Given the description of an element on the screen output the (x, y) to click on. 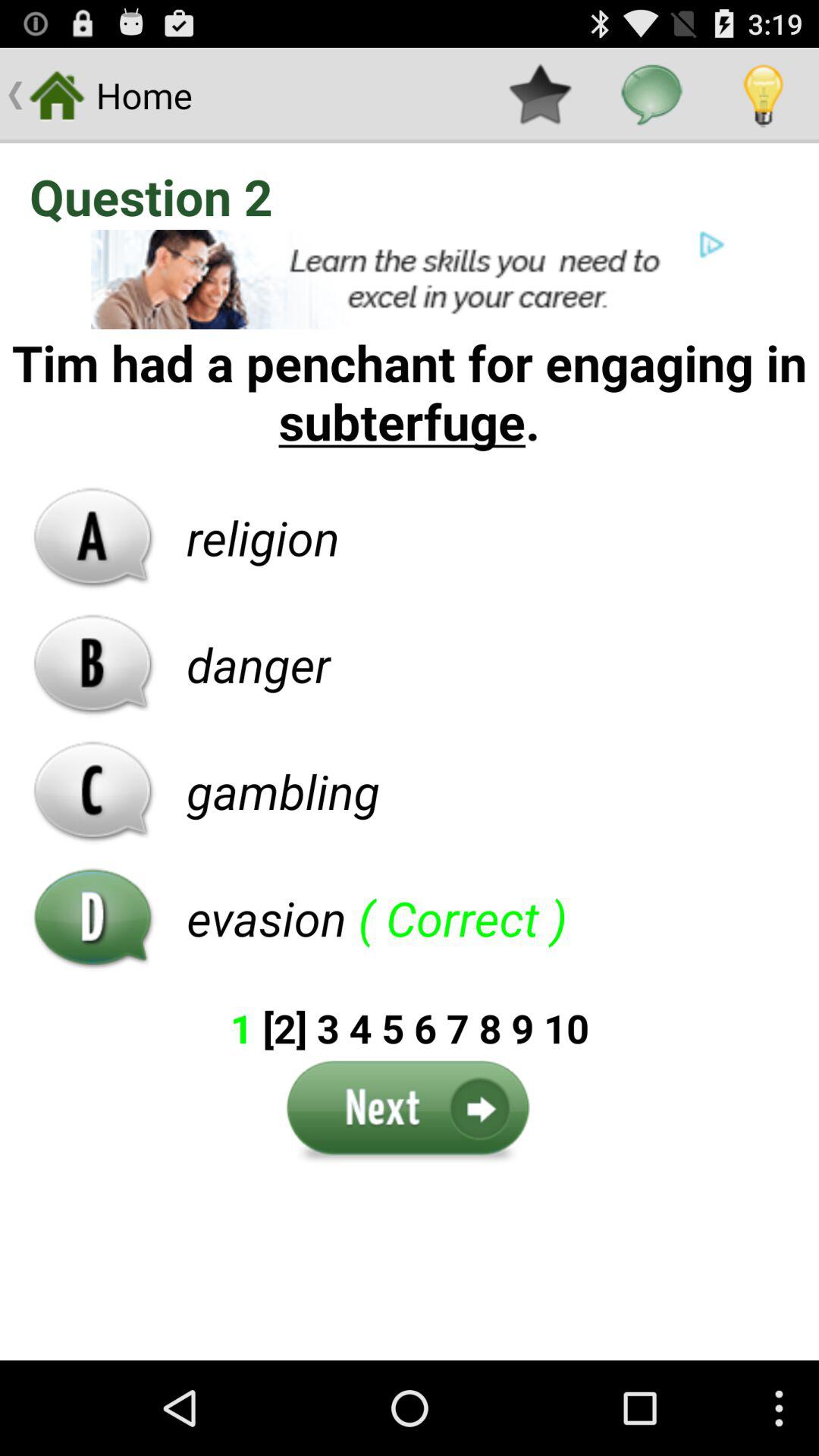
select item above the question 2 (763, 95)
